Given the description of an element on the screen output the (x, y) to click on. 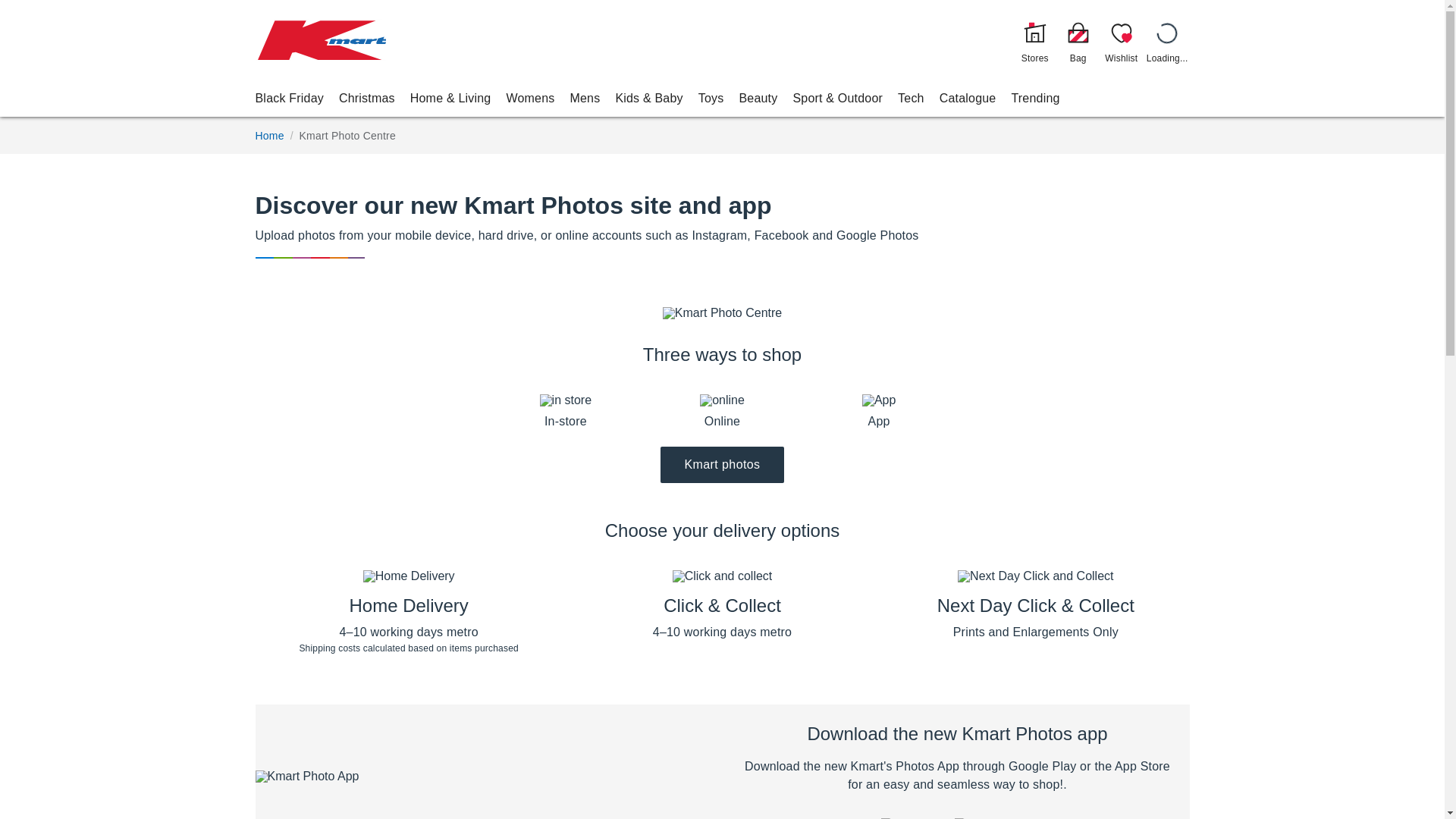
Kmart photos Element type: text (722, 464)
Christmas Element type: text (366, 97)
Toys Element type: text (711, 97)
Tech Element type: text (910, 97)
Home Element type: text (268, 136)
Womens Element type: text (529, 97)
Kids & Baby Element type: text (648, 97)
Stores Element type: text (1034, 39)
Black Friday Element type: text (288, 97)
0
Bag Element type: text (1078, 39)
Catalogue Element type: text (967, 97)
Loading... Element type: text (1167, 39)
Sport & Outdoor Element type: text (837, 97)
Home & Living Element type: text (450, 97)
Beauty Element type: text (757, 97)
Wishlist Element type: text (1121, 39)
Mens Element type: text (584, 97)
Trending Element type: text (1034, 97)
